Given the description of an element on the screen output the (x, y) to click on. 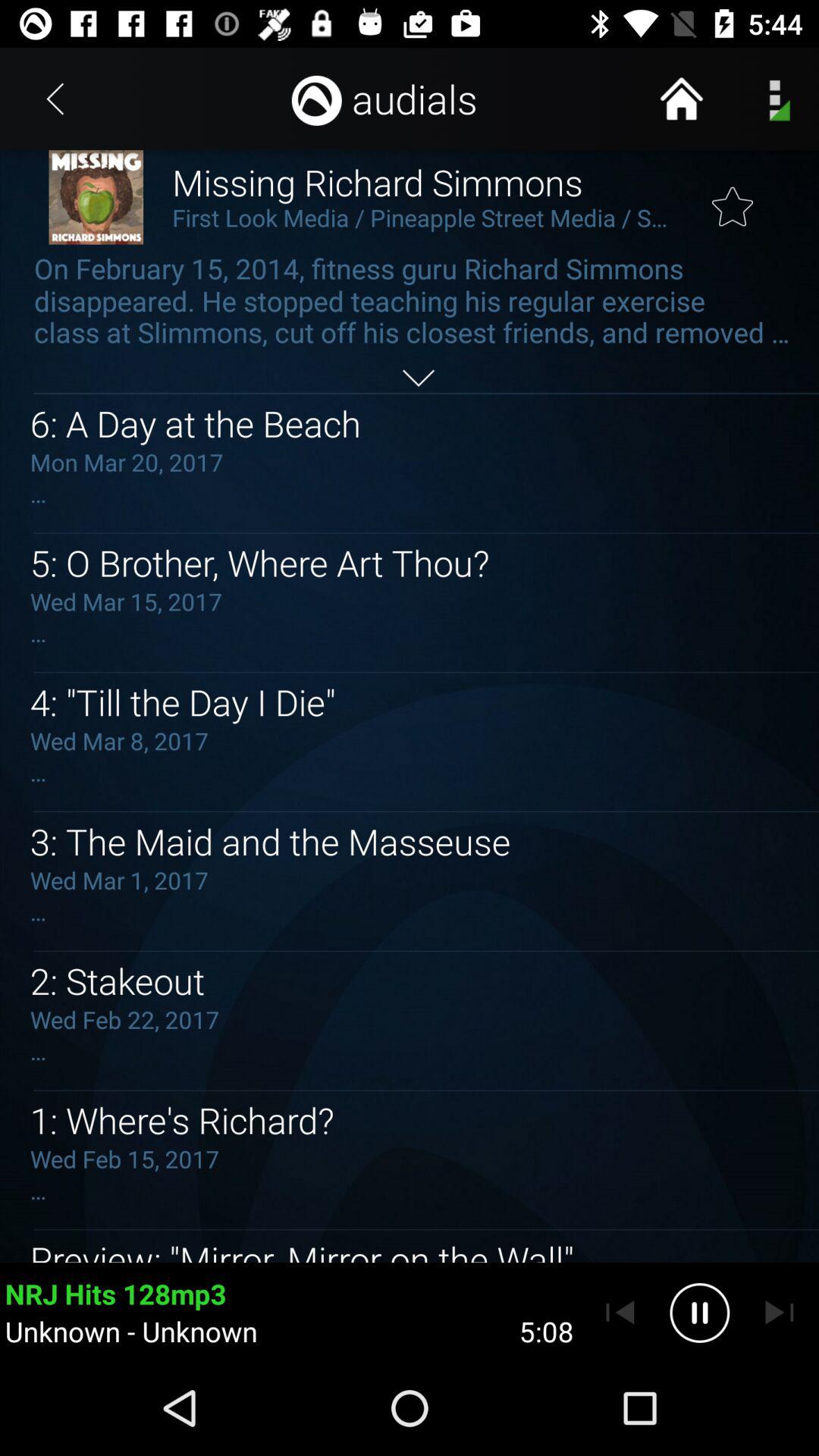
pause (699, 1312)
